Given the description of an element on the screen output the (x, y) to click on. 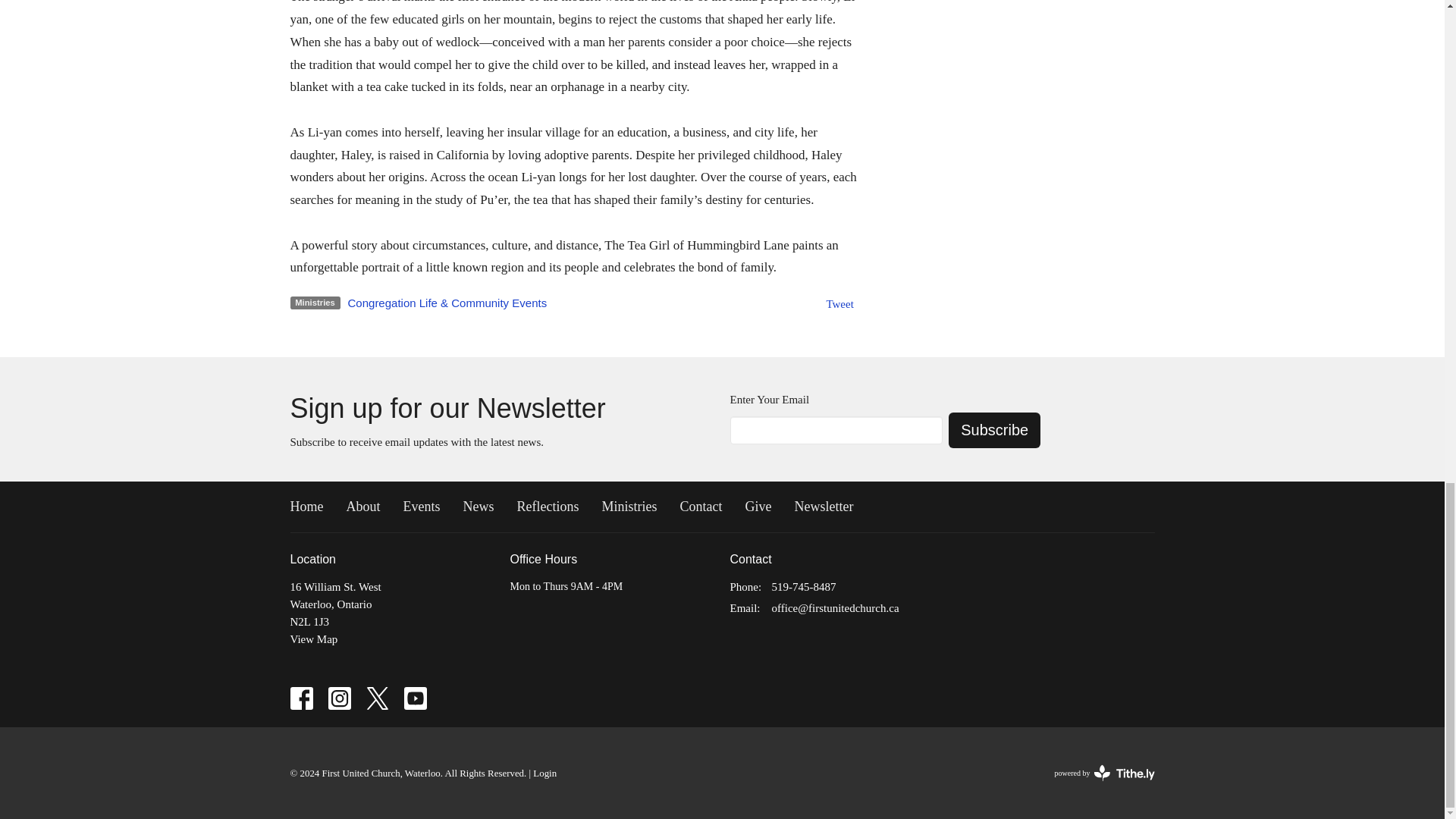
Events (422, 506)
translation missing: en.ui.email (743, 607)
About (363, 506)
News (478, 506)
Ministries (628, 506)
Reflections (547, 506)
Subscribe (995, 429)
Home (306, 506)
Contact (700, 506)
Tweet (839, 304)
Give (757, 506)
